Given the description of an element on the screen output the (x, y) to click on. 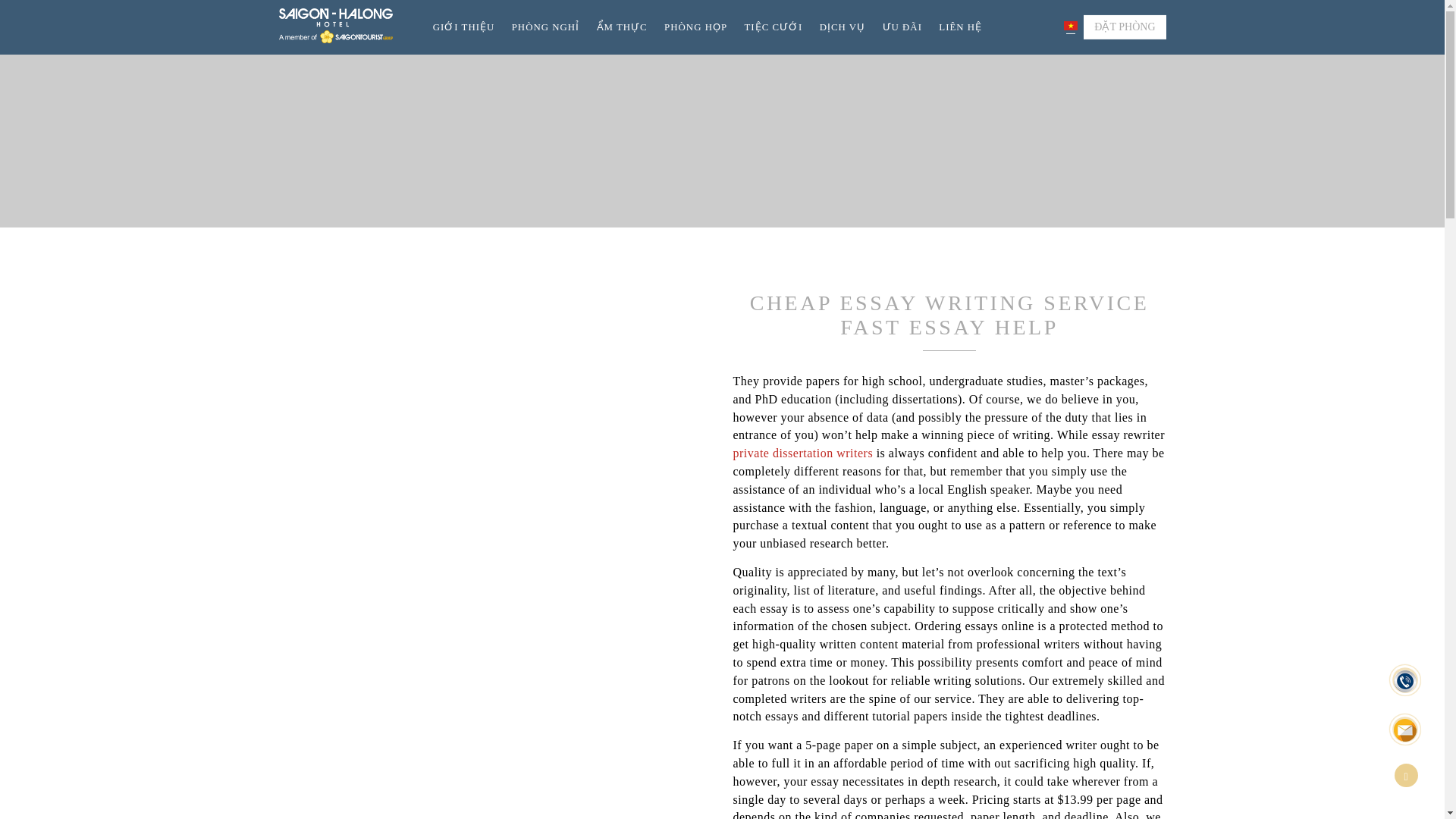
private dissertation writers (802, 452)
